Given the description of an element on the screen output the (x, y) to click on. 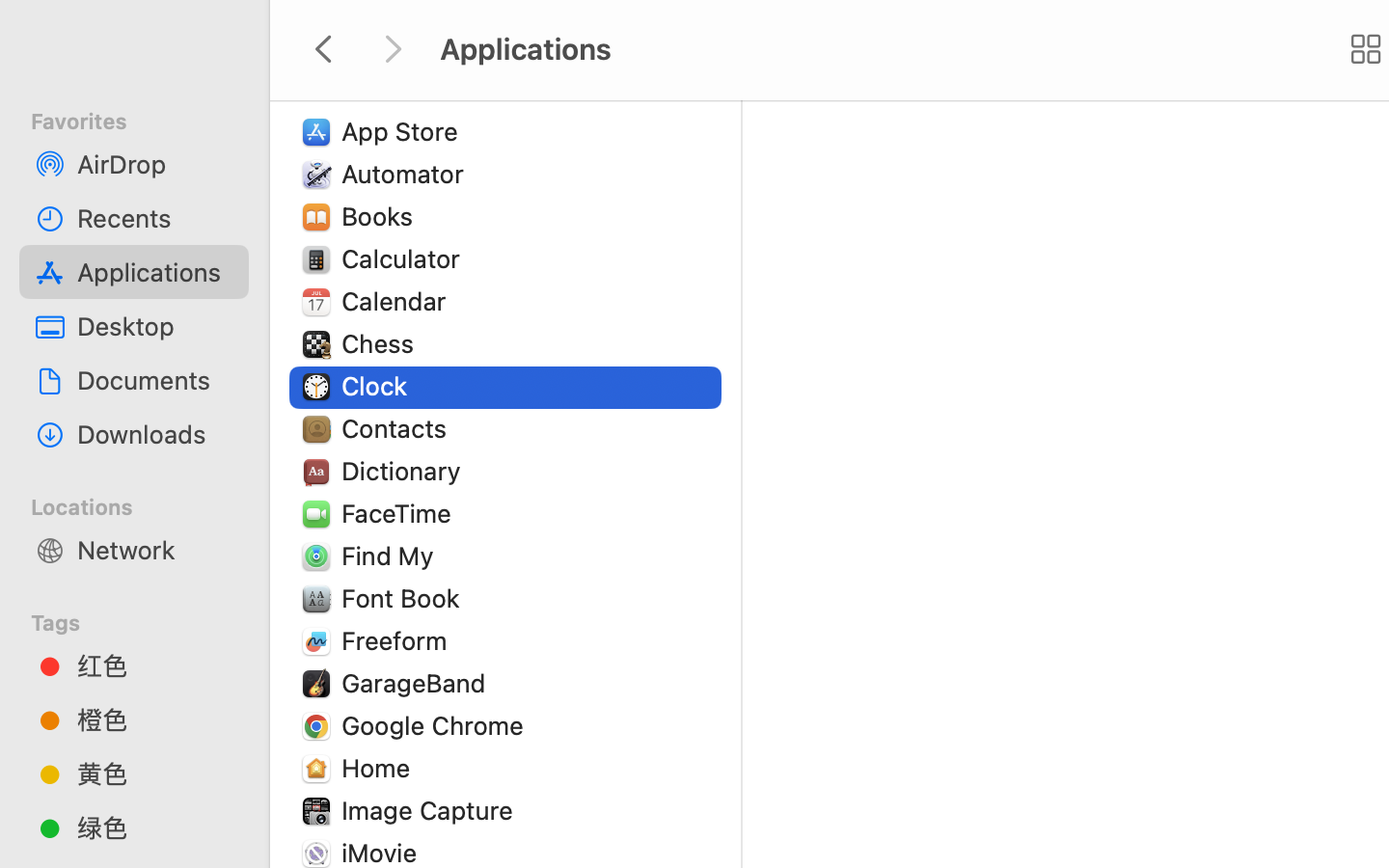
Documents Element type: AXStaticText (155, 379)
Image Capture Element type: AXTextField (430, 809)
黄色 Element type: AXStaticText (155, 773)
红色 Element type: AXStaticText (155, 665)
Calendar Element type: AXTextField (398, 300)
